Given the description of an element on the screen output the (x, y) to click on. 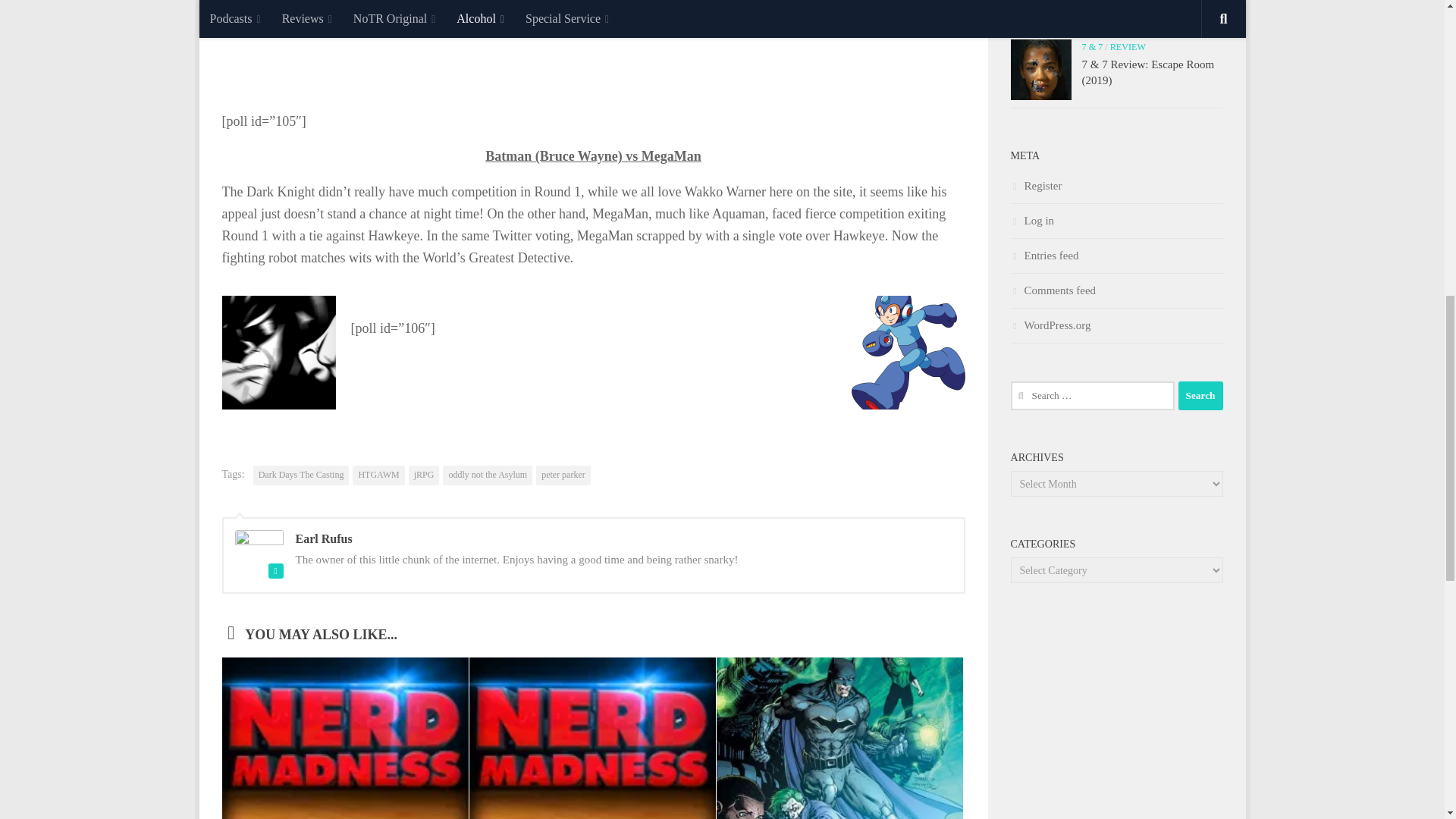
Batman-motion (277, 352)
Search (1200, 395)
Search (1200, 395)
MegaMan (906, 352)
